Given the description of an element on the screen output the (x, y) to click on. 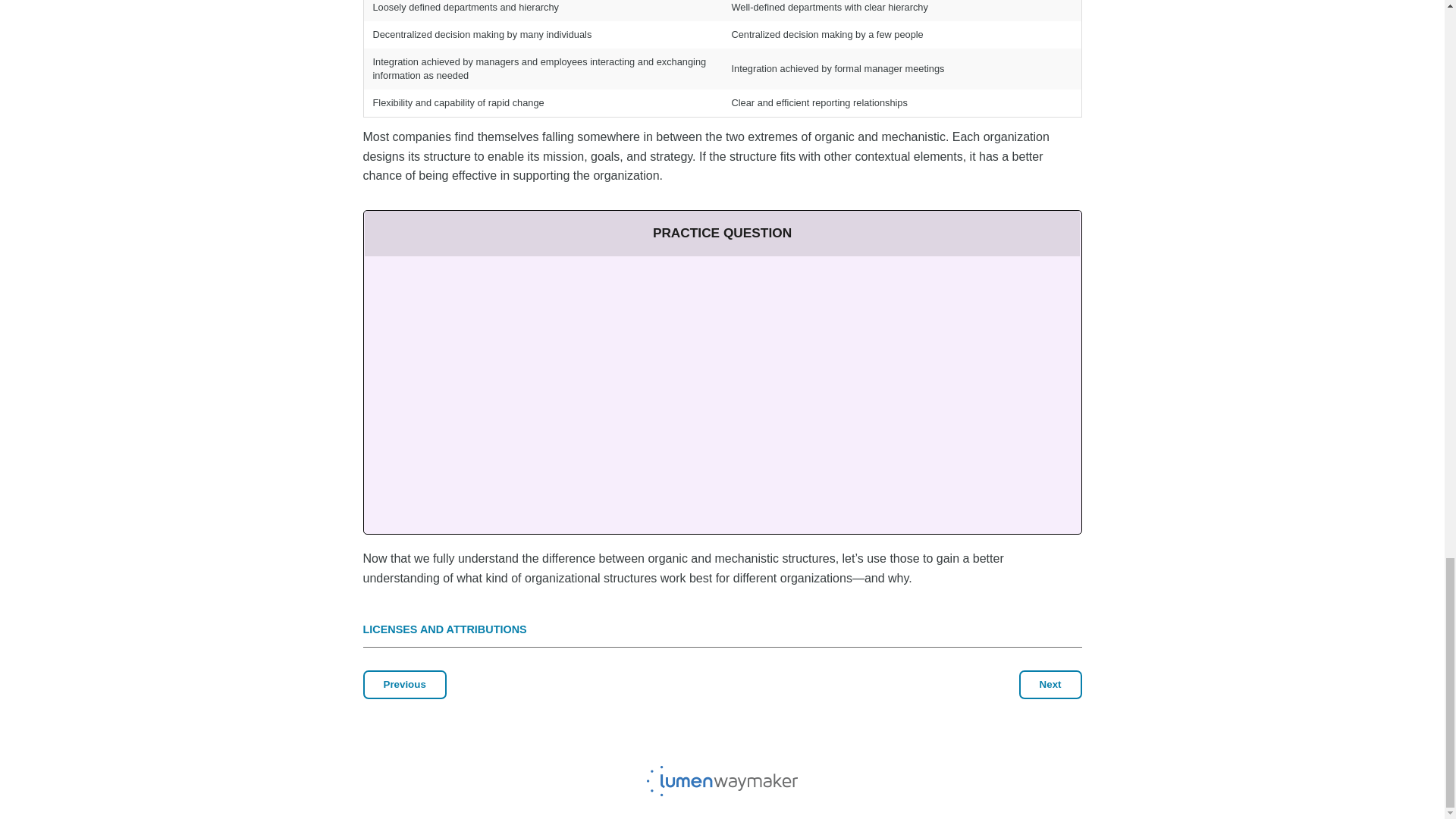
Previous (403, 684)
Next (1050, 684)
